Given the description of an element on the screen output the (x, y) to click on. 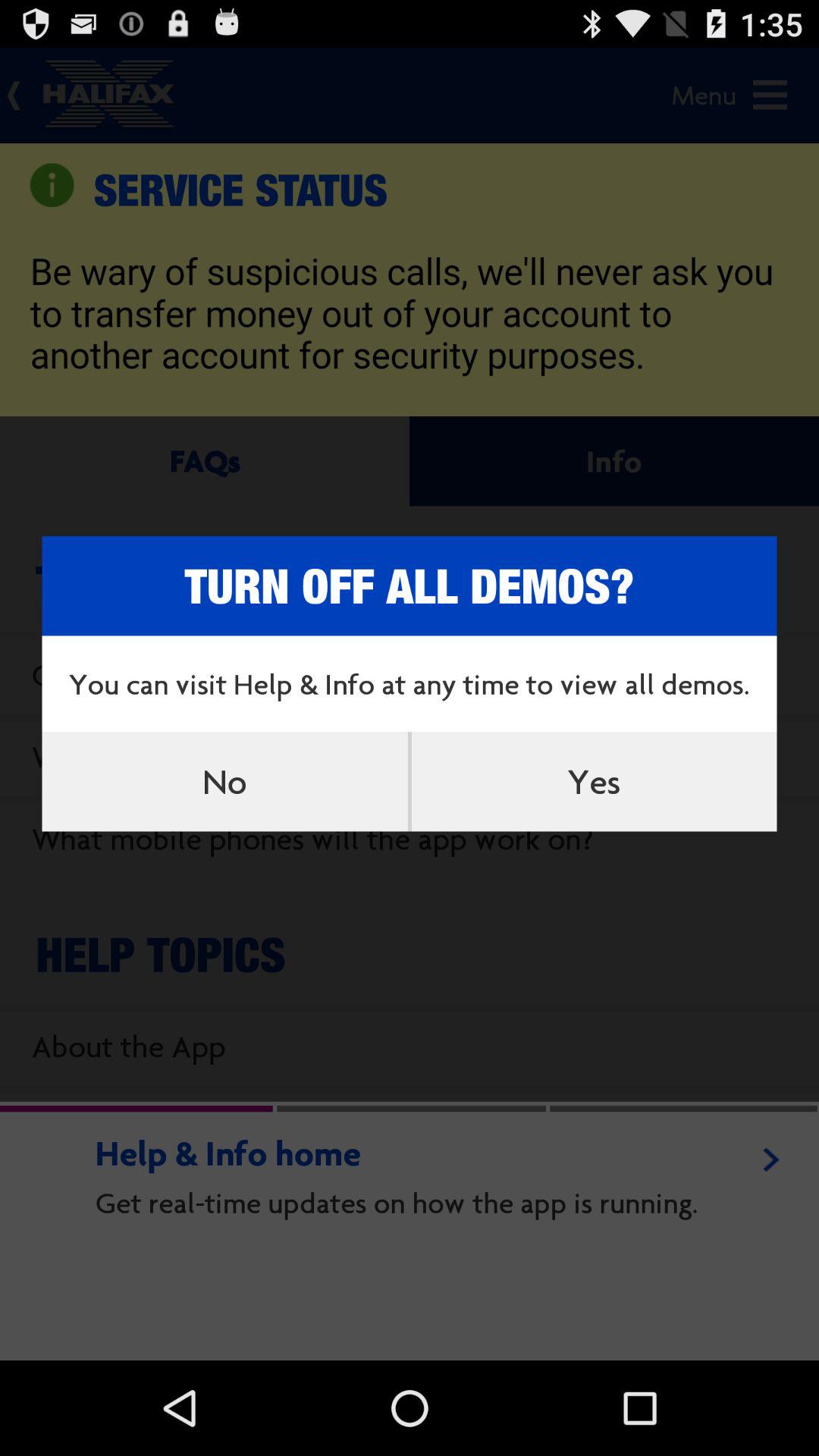
jump until the yes (593, 781)
